Given the description of an element on the screen output the (x, y) to click on. 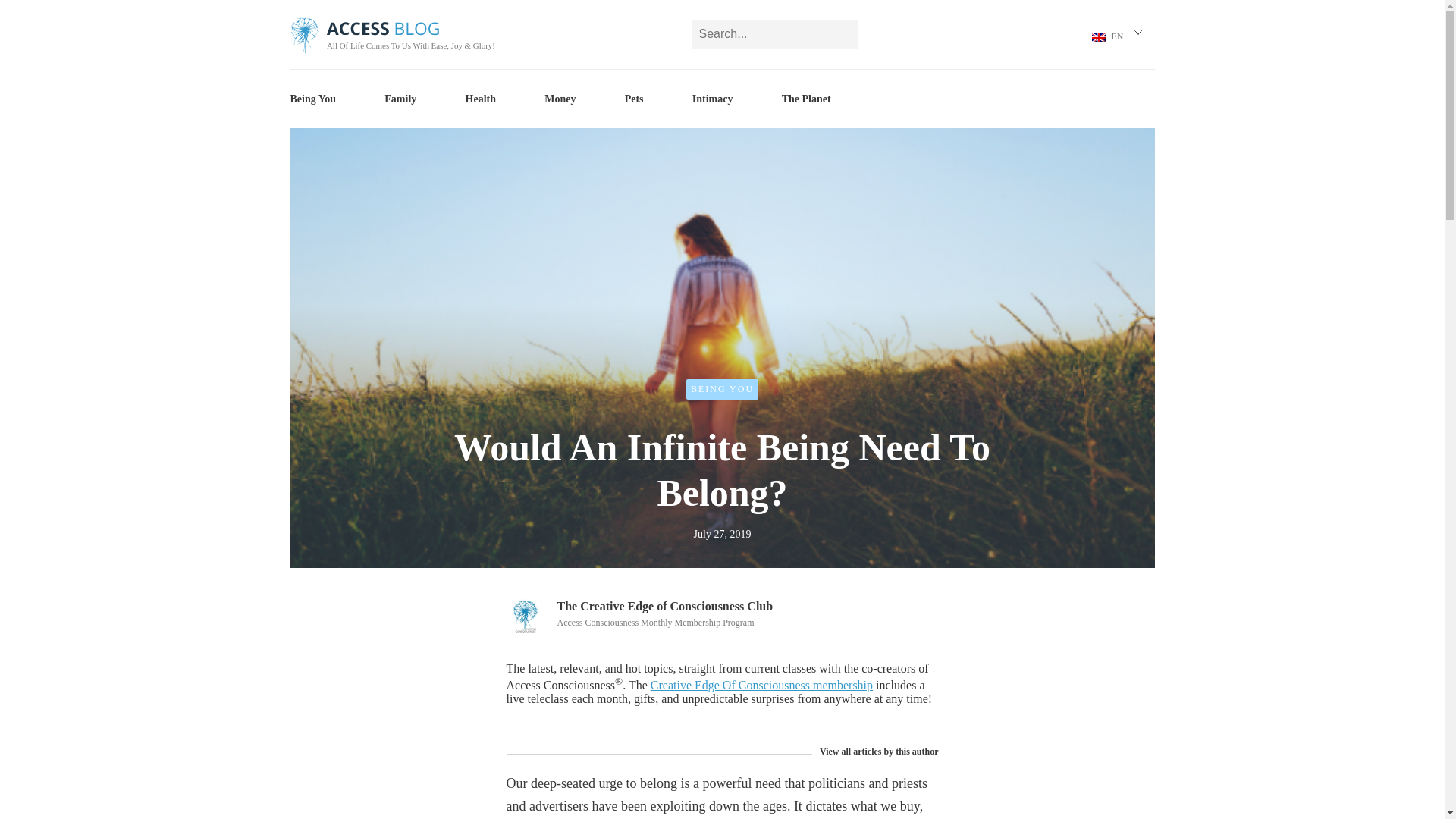
The Creative Edge of Consciousness Club (664, 605)
EN (1110, 38)
View all articles by this author (875, 751)
Creative Edge Of Consciousness membership (761, 684)
